Given the description of an element on the screen output the (x, y) to click on. 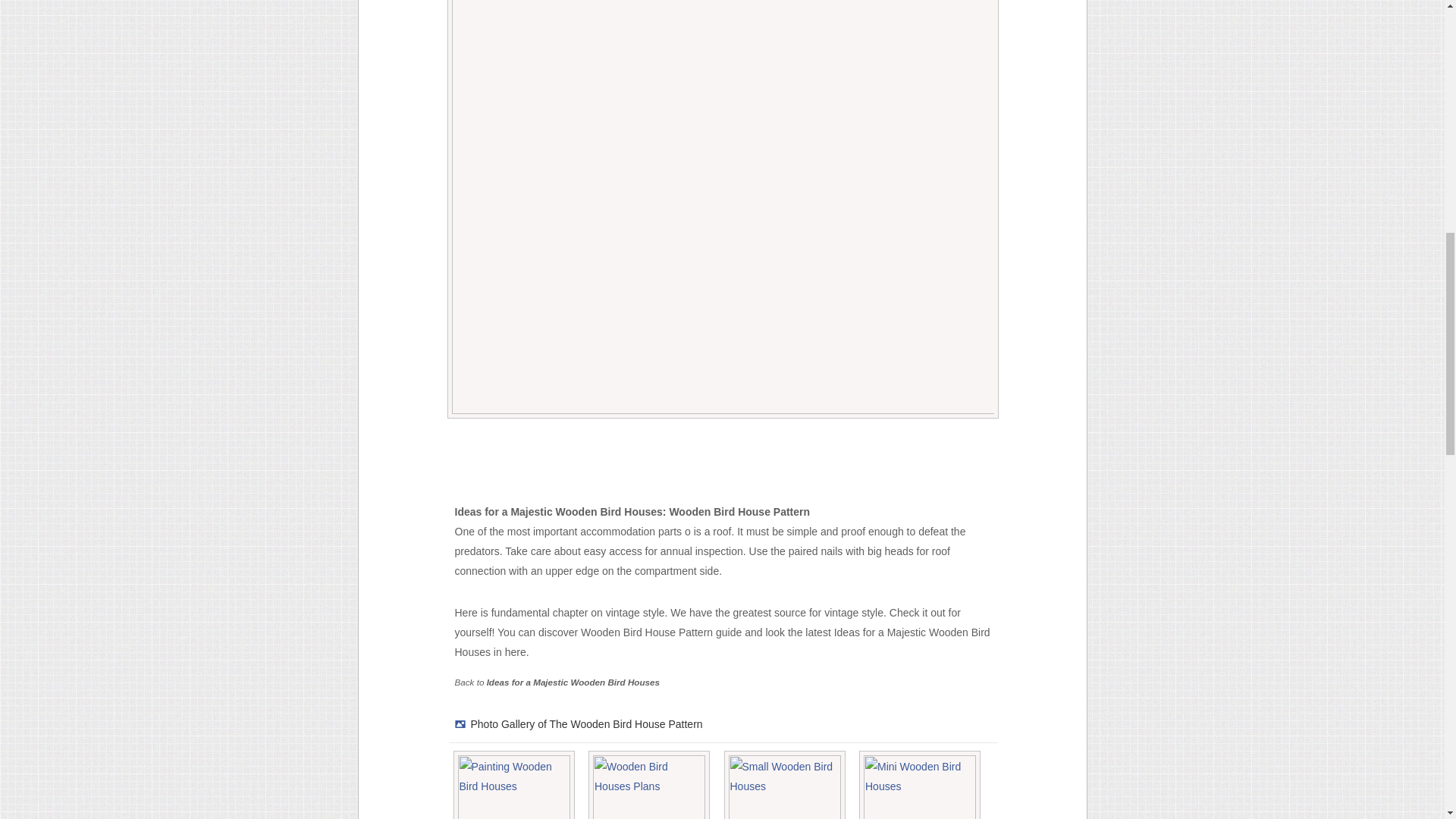
here (515, 652)
Ideas for a Majestic Wooden Bird Houses (572, 682)
Advertisement (726, 464)
Return to Ideas for a Majestic Wooden Bird Houses (572, 682)
